Given the description of an element on the screen output the (x, y) to click on. 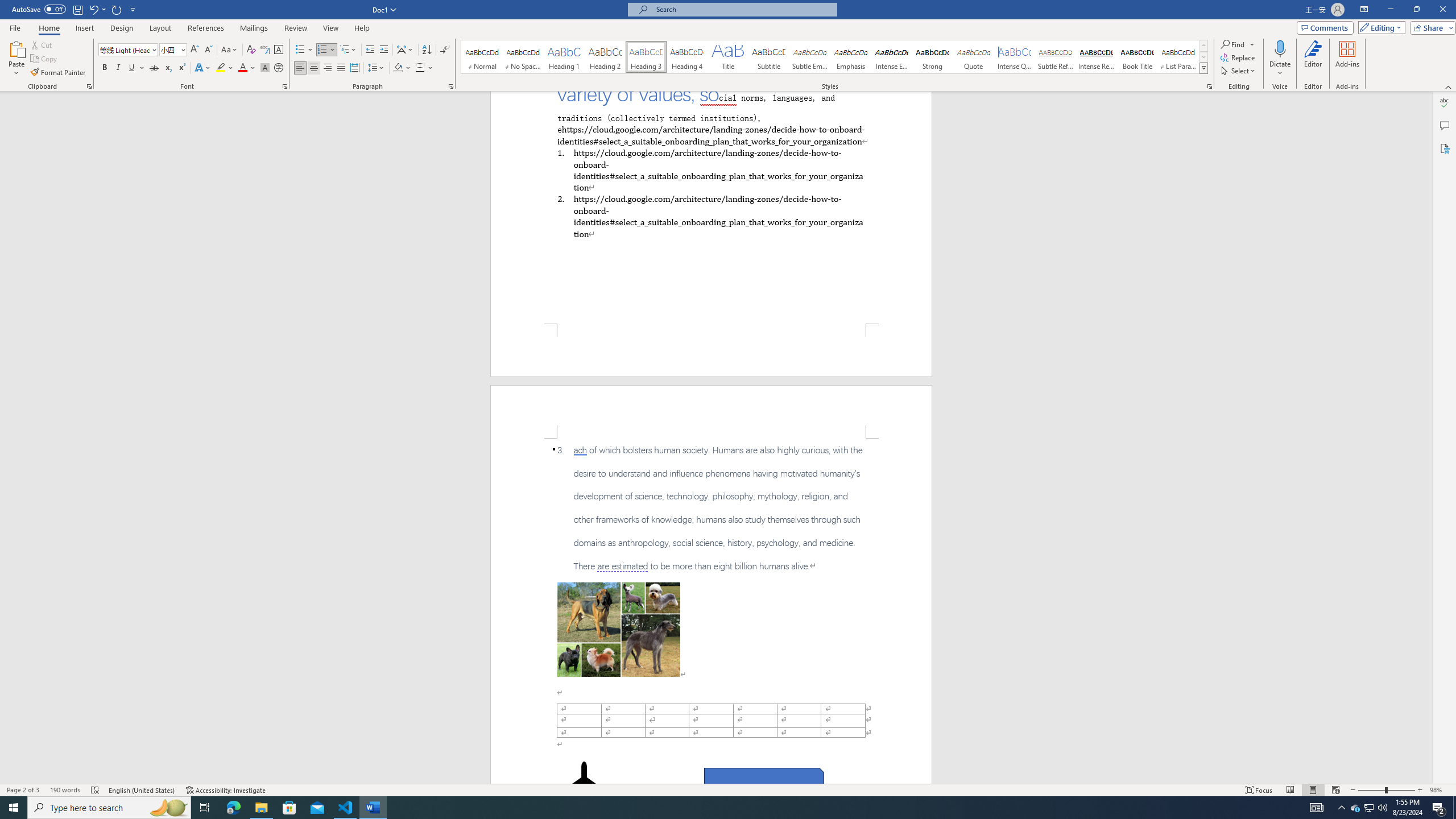
Emphasis (849, 56)
Book Title (1136, 56)
1. (710, 169)
